Given the description of an element on the screen output the (x, y) to click on. 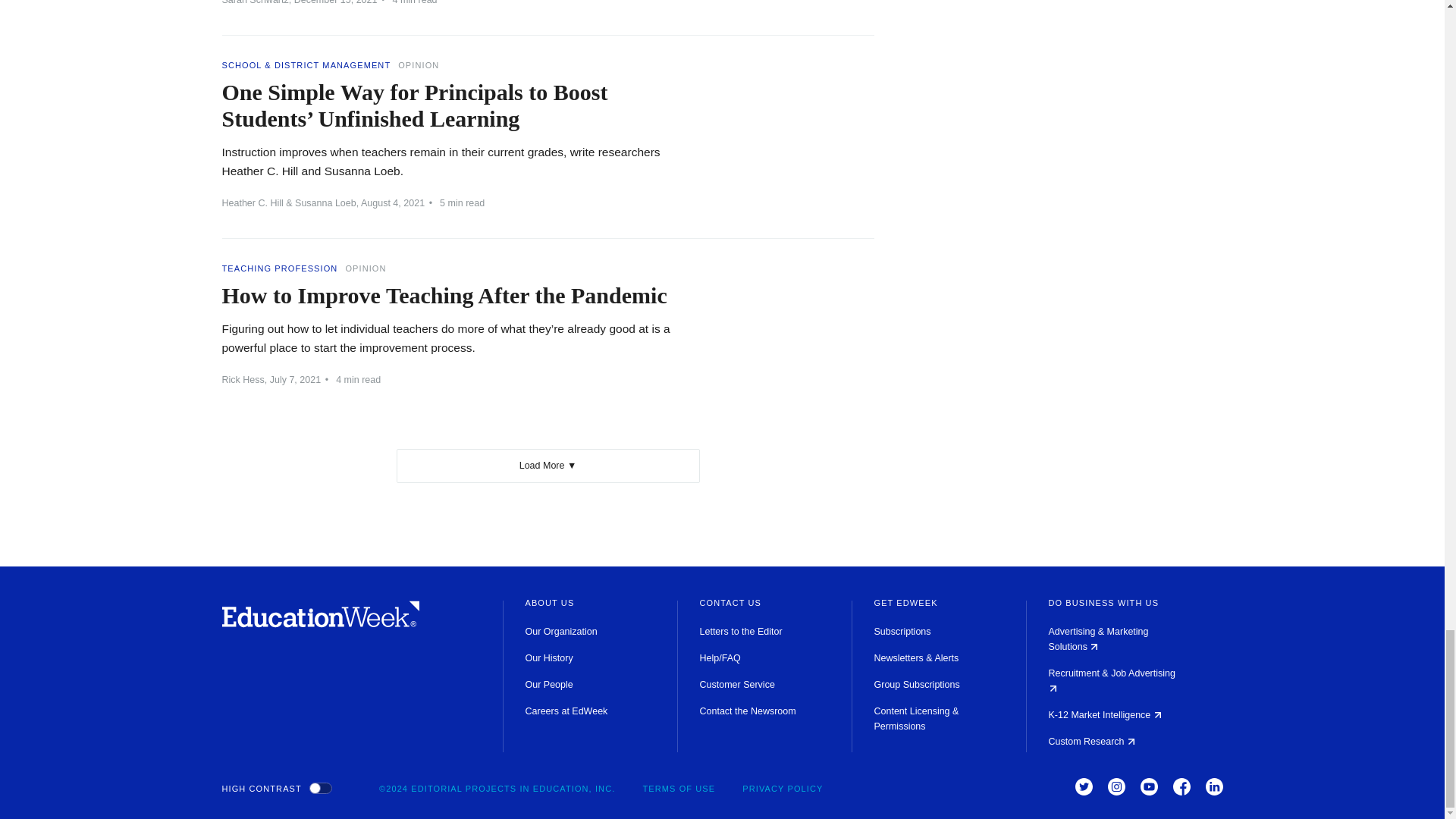
Homepage (320, 623)
